Given the description of an element on the screen output the (x, y) to click on. 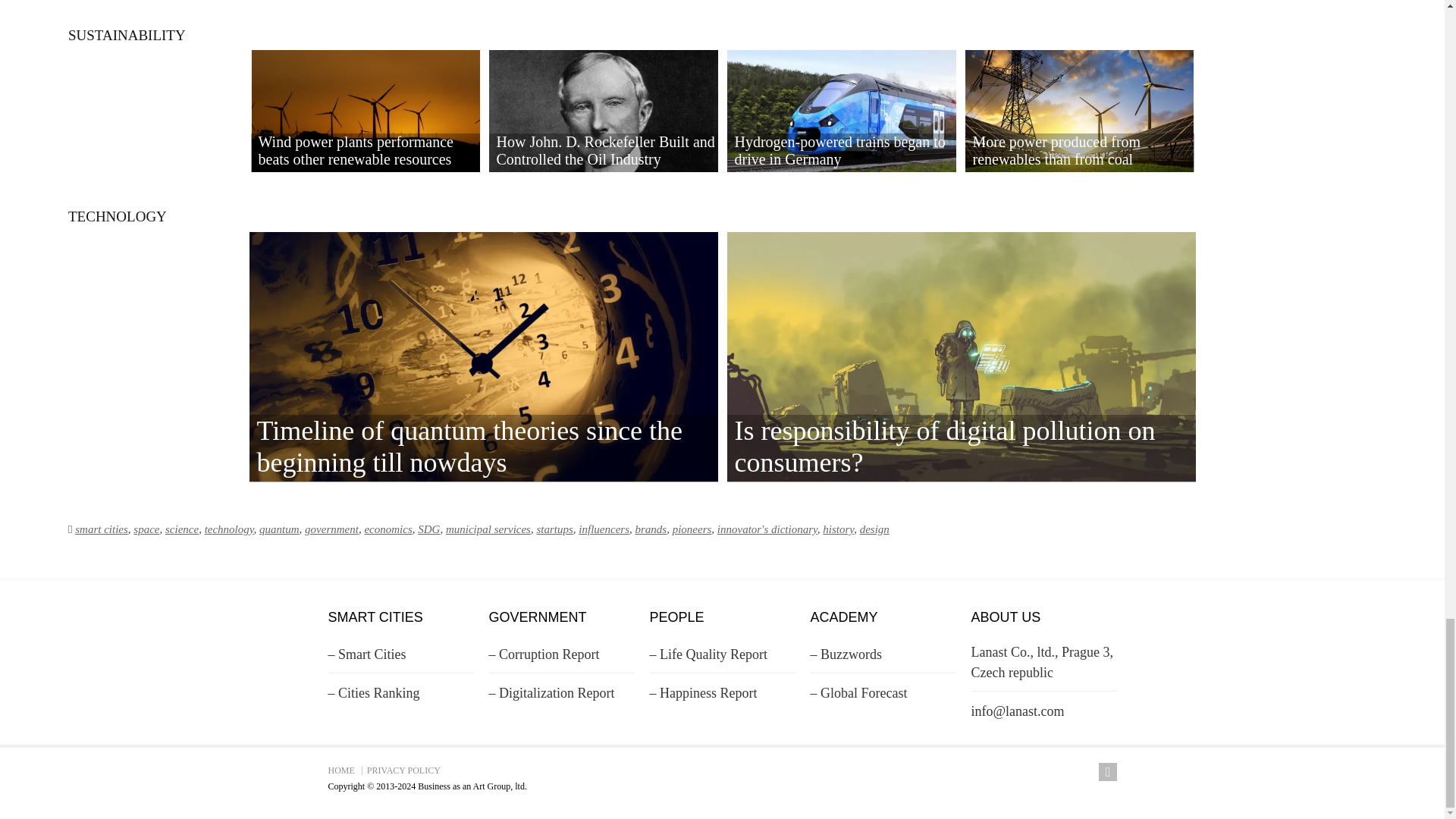
World corruption report (542, 658)
World happiness report (703, 697)
RSS (1106, 771)
